Given the description of an element on the screen output the (x, y) to click on. 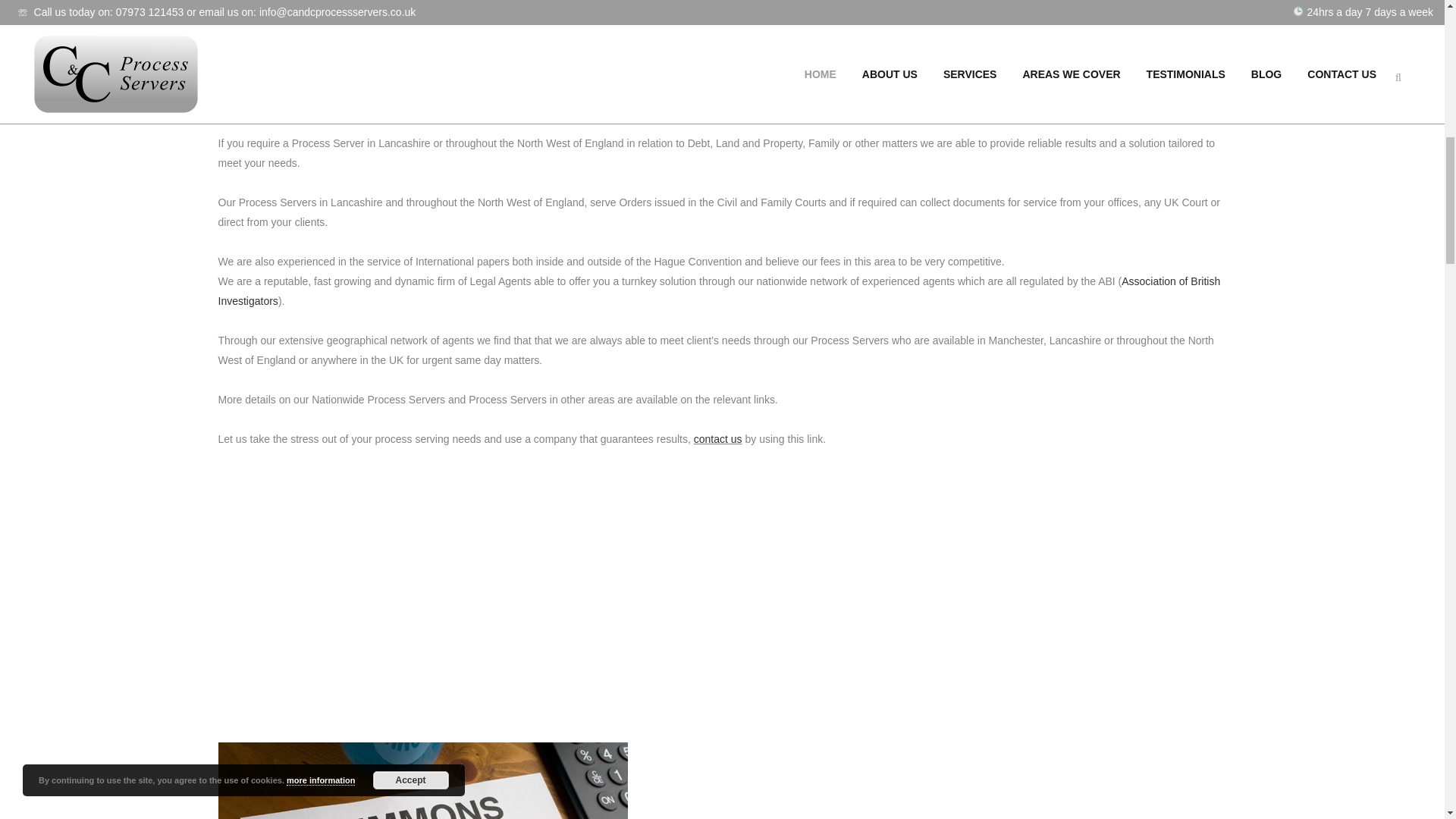
contact us (718, 439)
Association of British Investigators (719, 291)
